Given the description of an element on the screen output the (x, y) to click on. 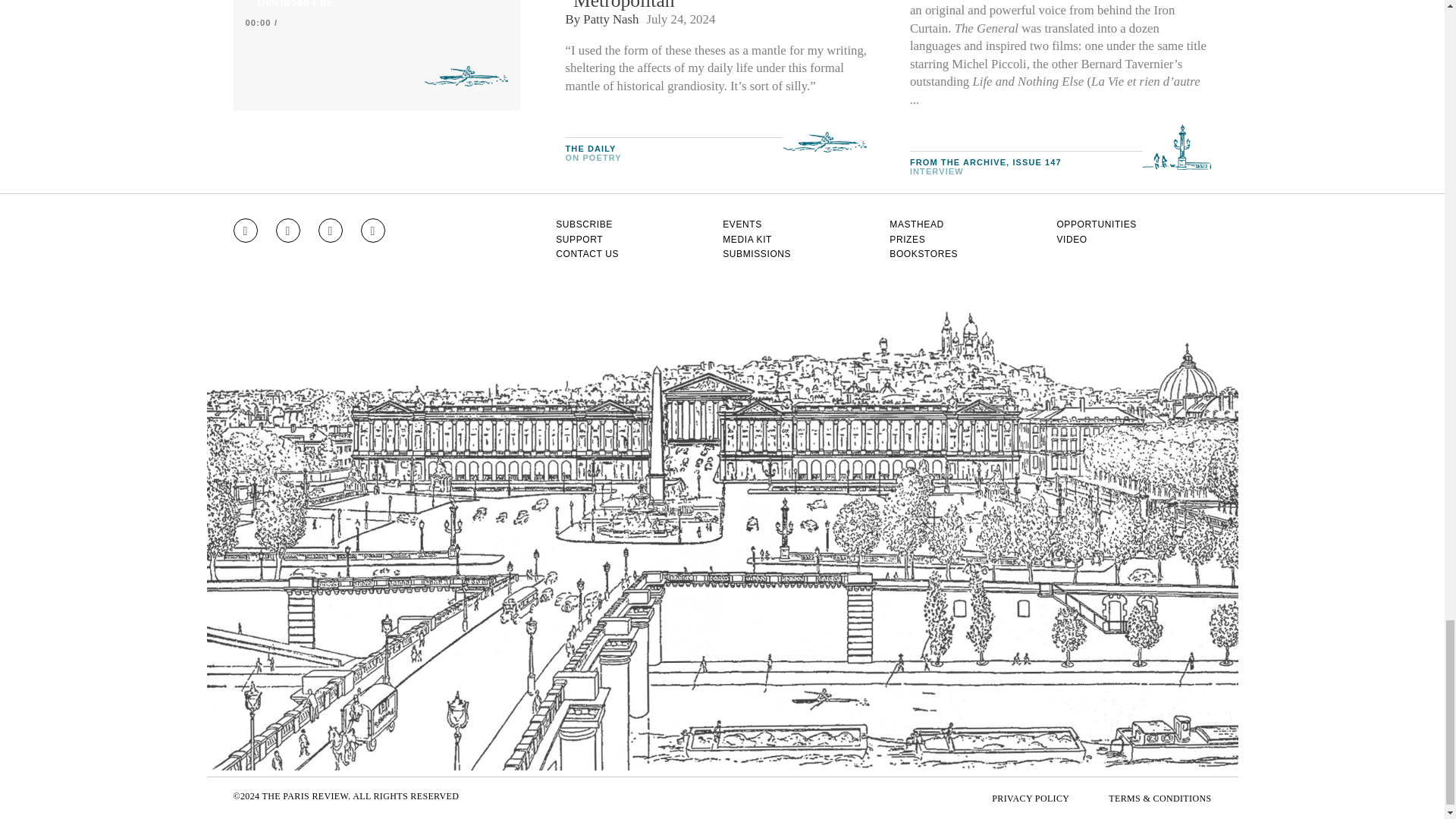
Go to Facebook page (287, 230)
Go to RSS feed (373, 230)
Go to Instagram feed (244, 230)
Go to Twitter feed (330, 230)
